Given the description of an element on the screen output the (x, y) to click on. 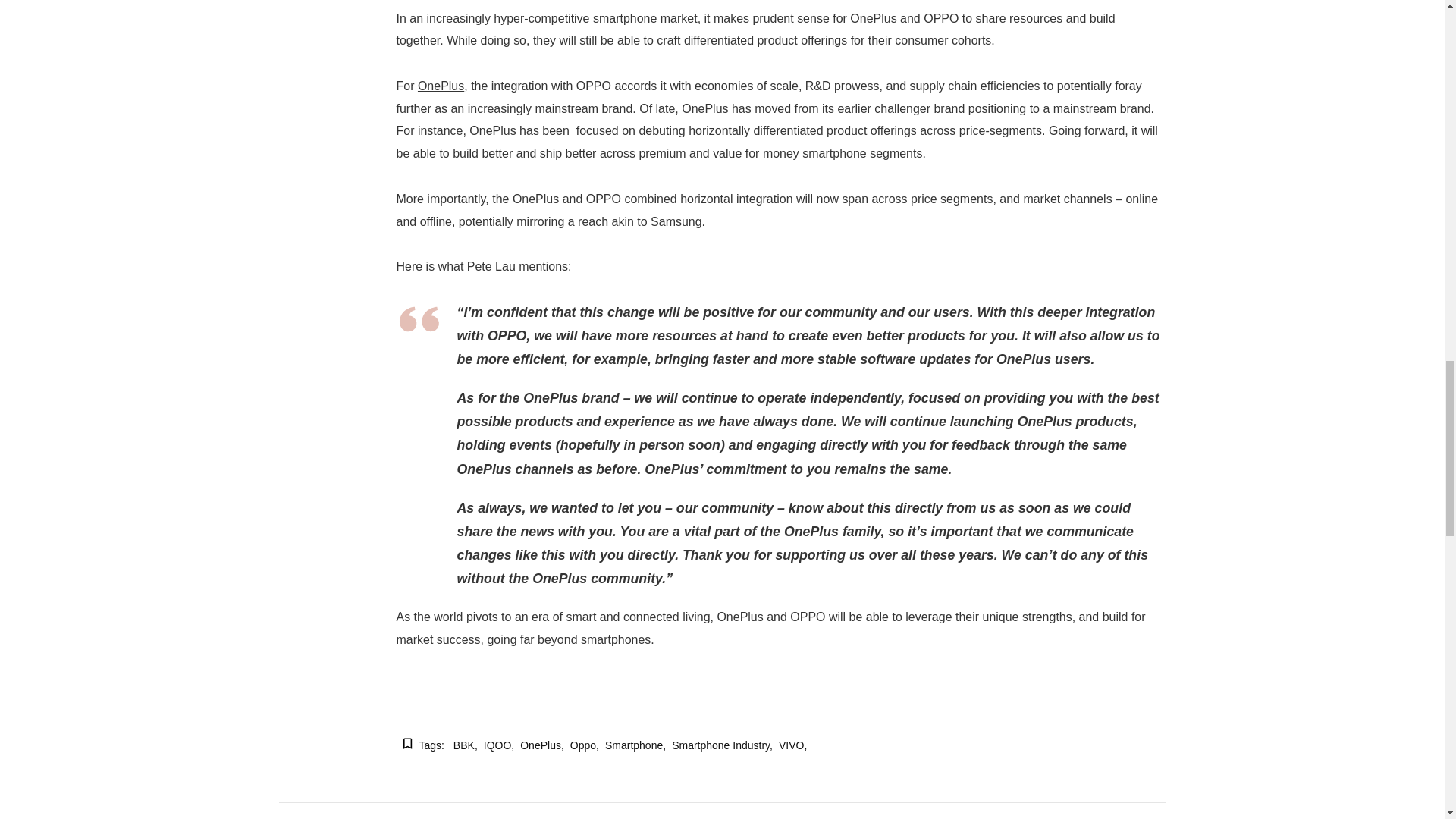
Oppo (584, 745)
VIVO (792, 745)
IQOO (498, 745)
BBK (464, 745)
OPPO (940, 18)
Smartphone Industry (722, 745)
OnePlus (541, 745)
OnePlus (873, 18)
Smartphone (635, 745)
OnePlus (440, 85)
